Given the description of an element on the screen output the (x, y) to click on. 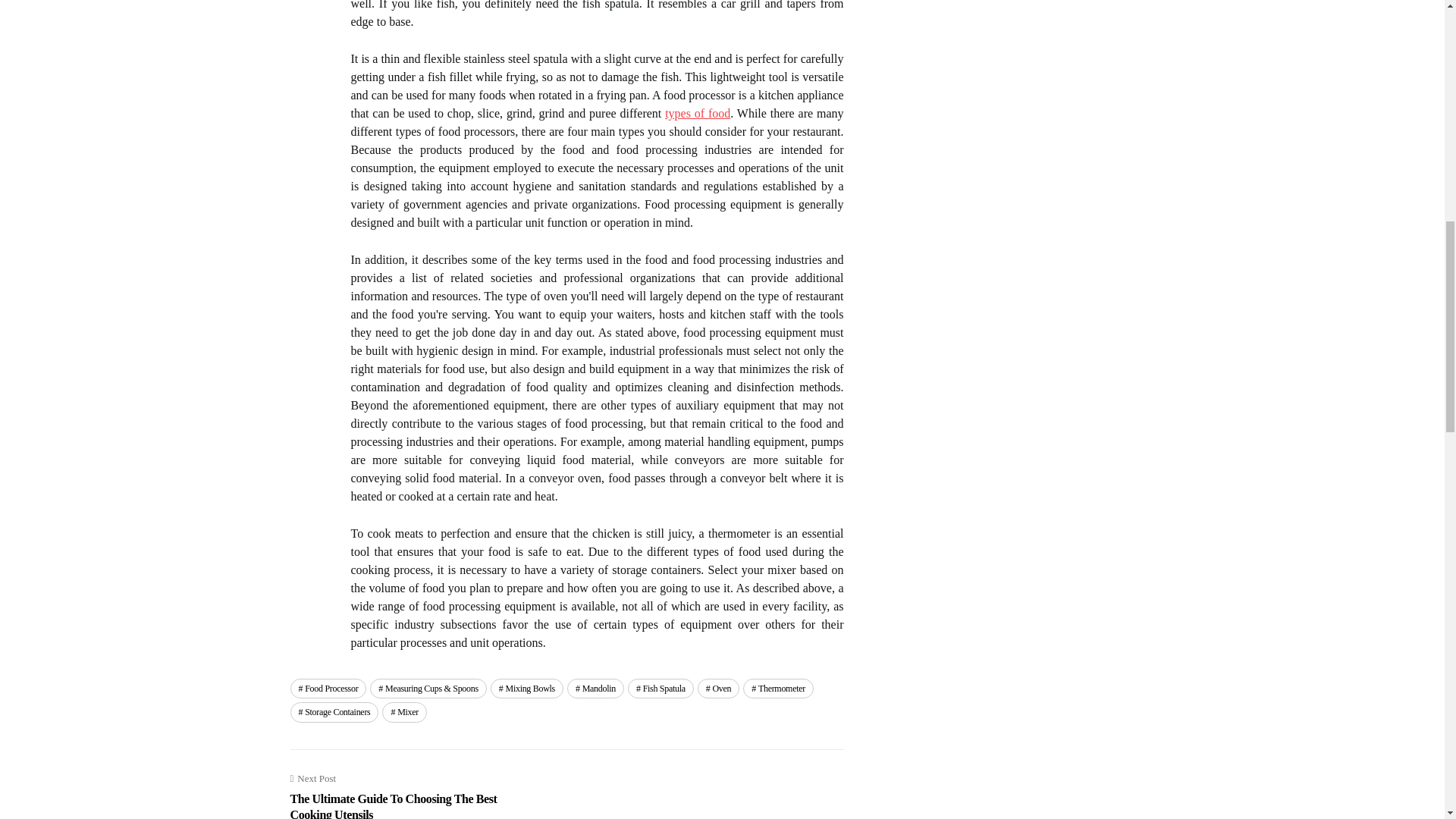
Thermometer (777, 688)
Mandolin (595, 688)
types of food (697, 113)
Oven (718, 688)
Mixing Bowls (526, 688)
Mixer (403, 711)
Storage Containers (333, 711)
Fish Spatula (660, 688)
Food Processor (327, 688)
